Given the description of an element on the screen output the (x, y) to click on. 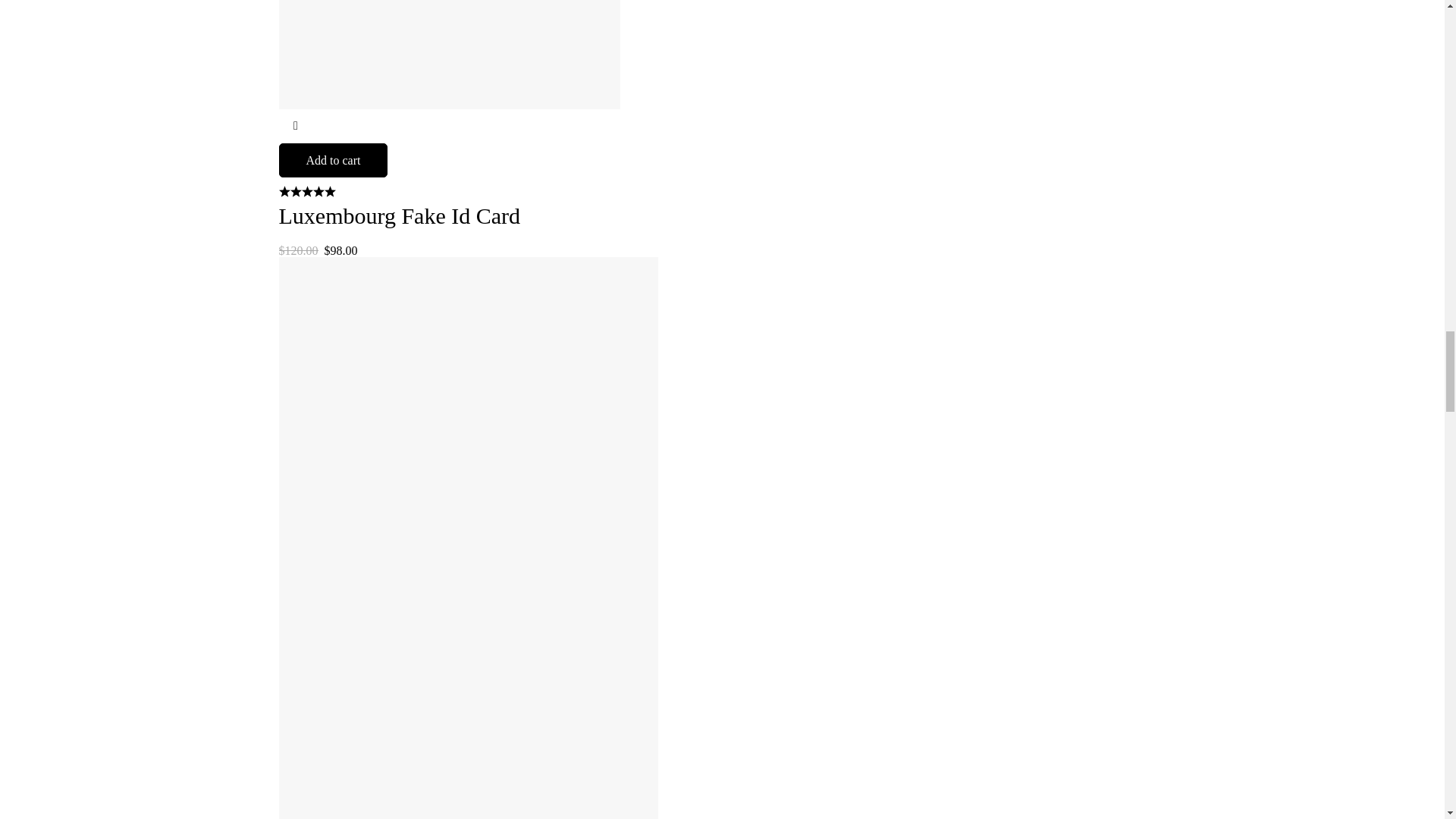
Quick view (296, 125)
Luxembourg Fake Id Card (400, 215)
Add to cart (333, 160)
